Given the description of an element on the screen output the (x, y) to click on. 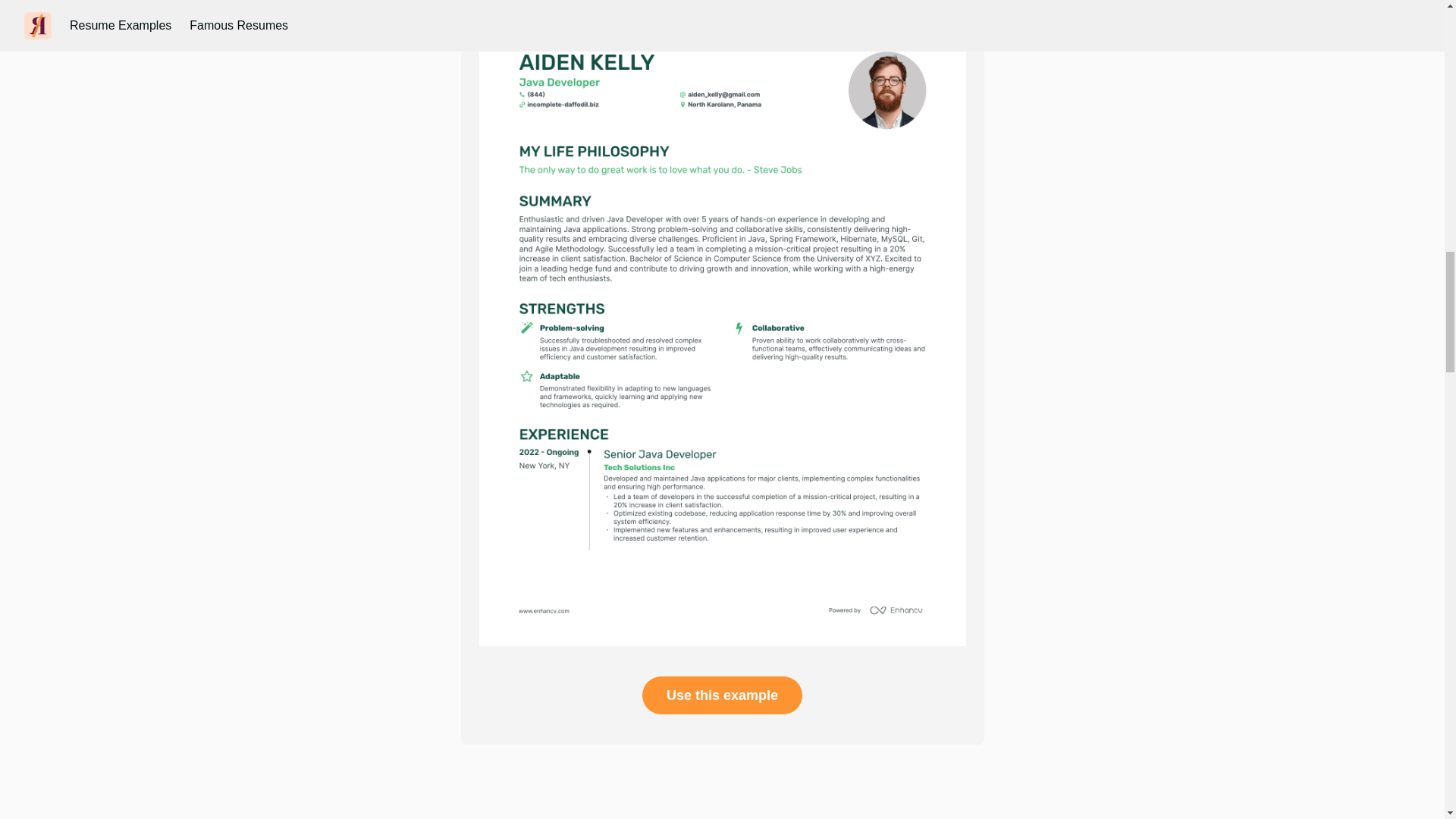
Use this example (722, 695)
